Given the description of an element on the screen output the (x, y) to click on. 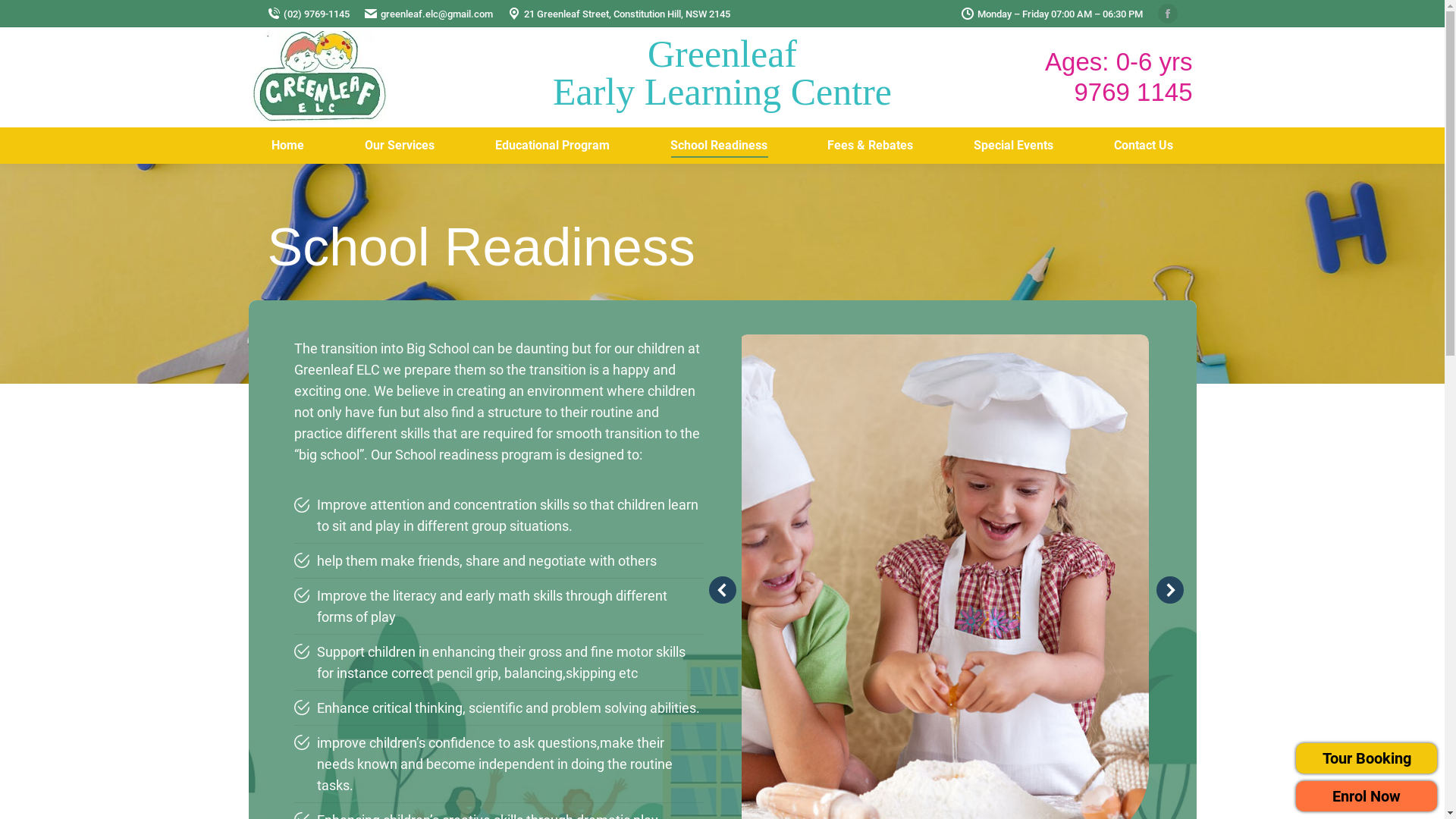
Facebook page opens in new window Element type: text (1166, 13)
Fees & Rebates Element type: text (869, 145)
Contact Us Element type: text (1143, 145)
Special Events Element type: text (1013, 145)
Our Services Element type: text (399, 145)
Enrol Now Element type: text (1366, 796)
Educational Program Element type: text (552, 145)
Tour Booking Element type: text (1366, 758)
Home Element type: text (287, 145)
School Readiness Element type: text (718, 145)
greenleaf.elc@gmail.com Element type: text (428, 13)
